Given the description of an element on the screen output the (x, y) to click on. 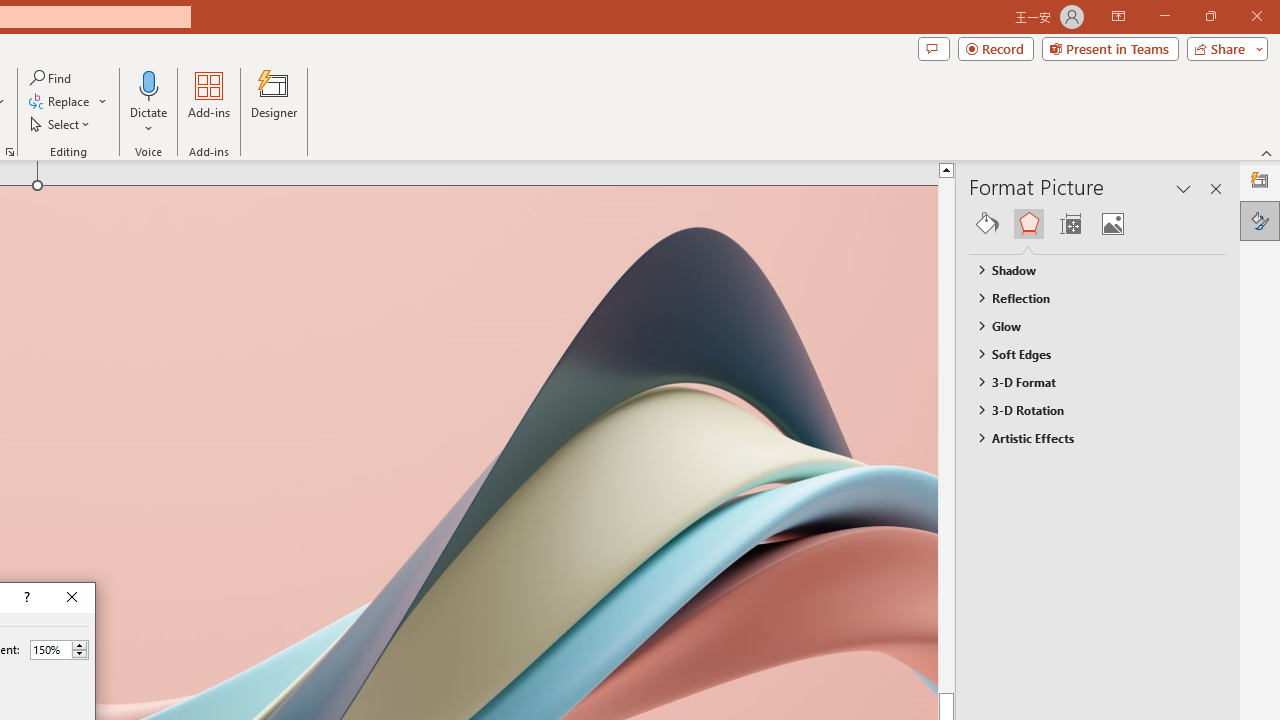
Effects (1028, 223)
Size & Properties (1070, 223)
Soft Edges (1088, 353)
